Given the description of an element on the screen output the (x, y) to click on. 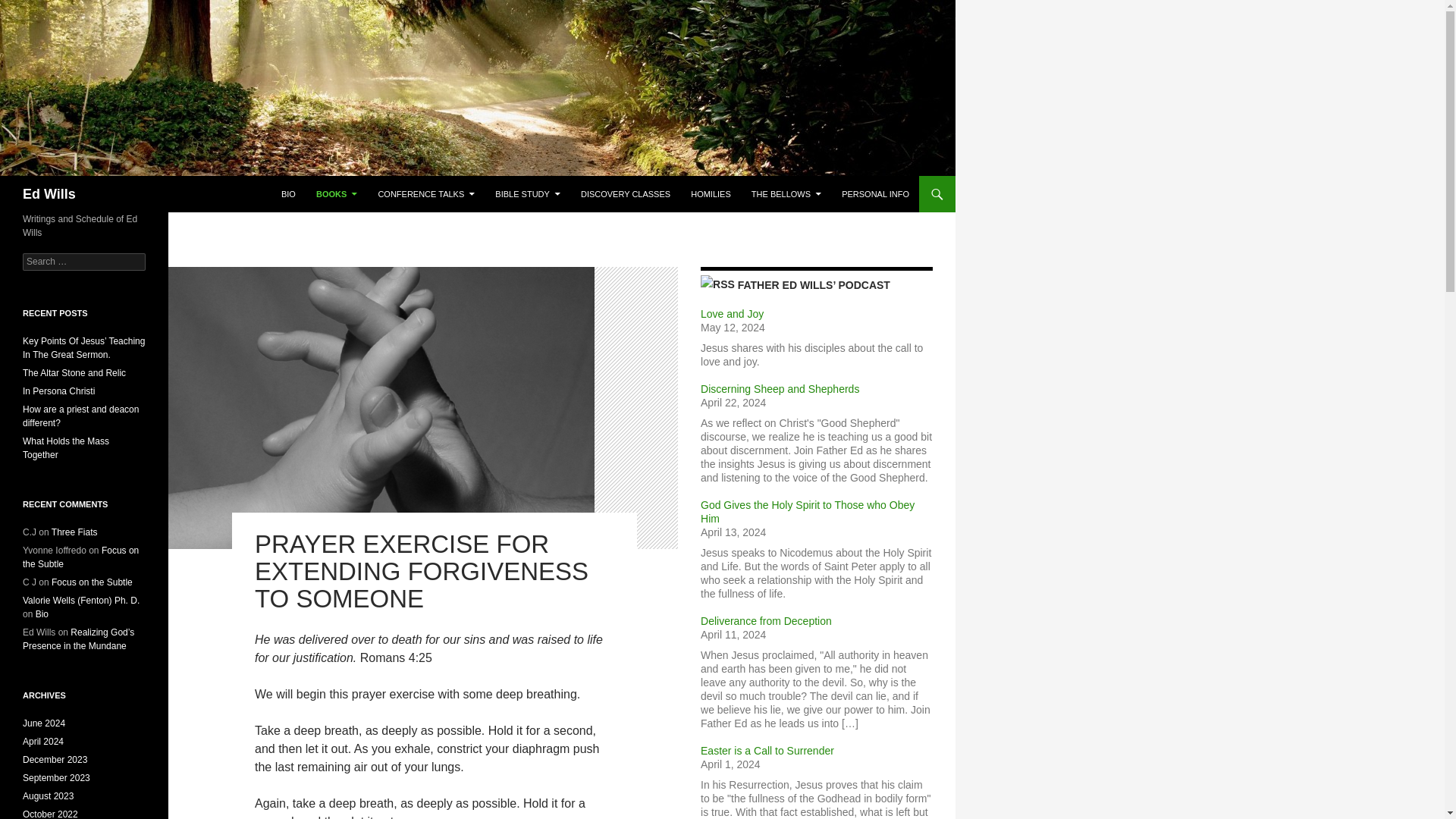
Ed Wills (49, 194)
BOOKS (336, 194)
BIBLE STUDY (527, 194)
CONFERENCE TALKS (425, 194)
BIO (288, 194)
